Given the description of an element on the screen output the (x, y) to click on. 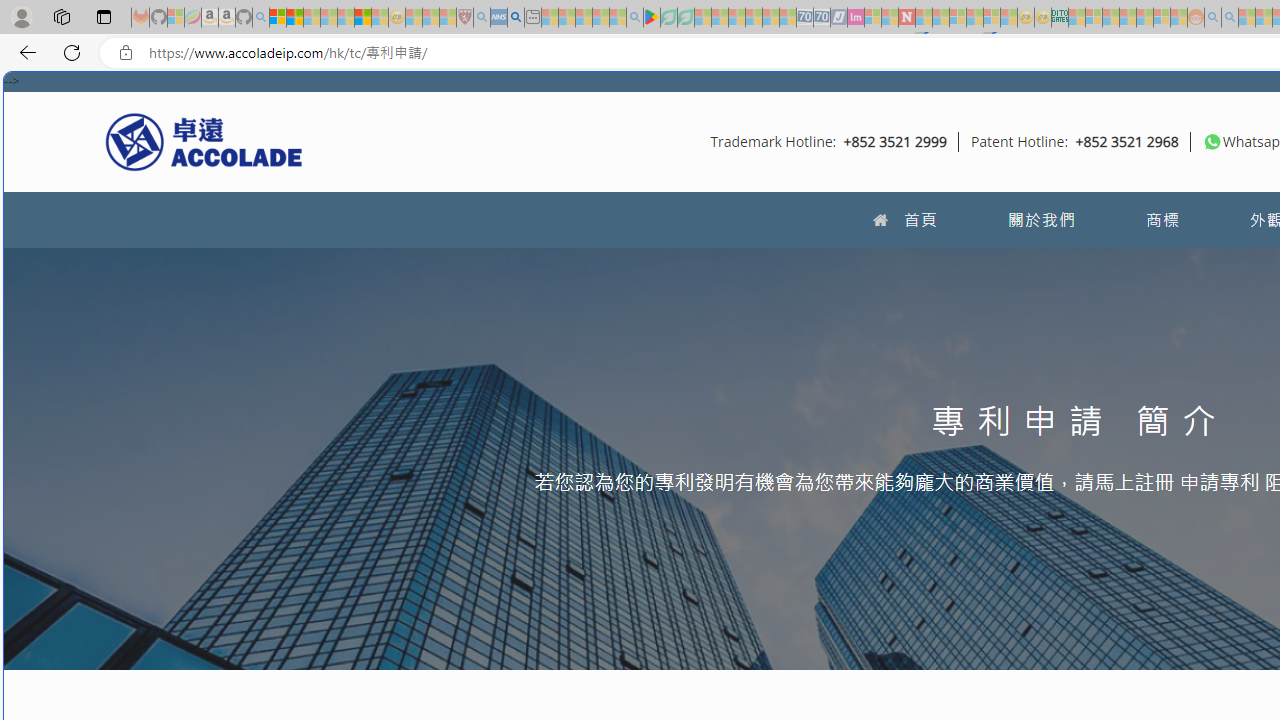
NCL Adult Asthma Inhaler Choice Guideline - Sleeping (498, 17)
Trusted Community Engagement and Contributions | Guidelines (923, 17)
Pets - MSN - Sleeping (600, 17)
